Given the description of an element on the screen output the (x, y) to click on. 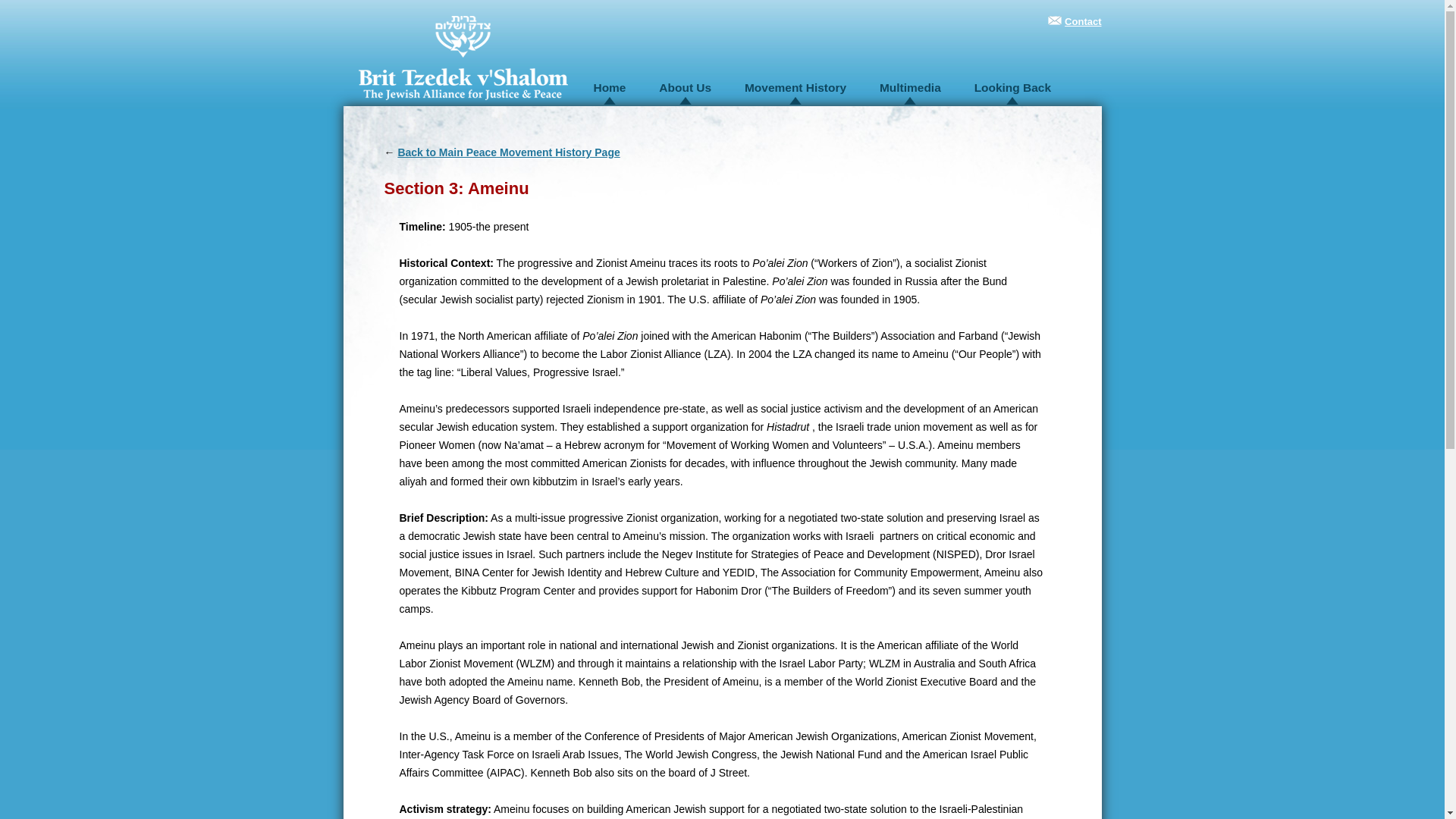
Multimedia (909, 87)
Skip to content (896, 72)
Back to Main Peace Movement History Page (508, 152)
About Us (685, 87)
Looking Back (1012, 87)
Skip to content (896, 72)
Movement History (794, 87)
Contact (1082, 21)
